Given the description of an element on the screen output the (x, y) to click on. 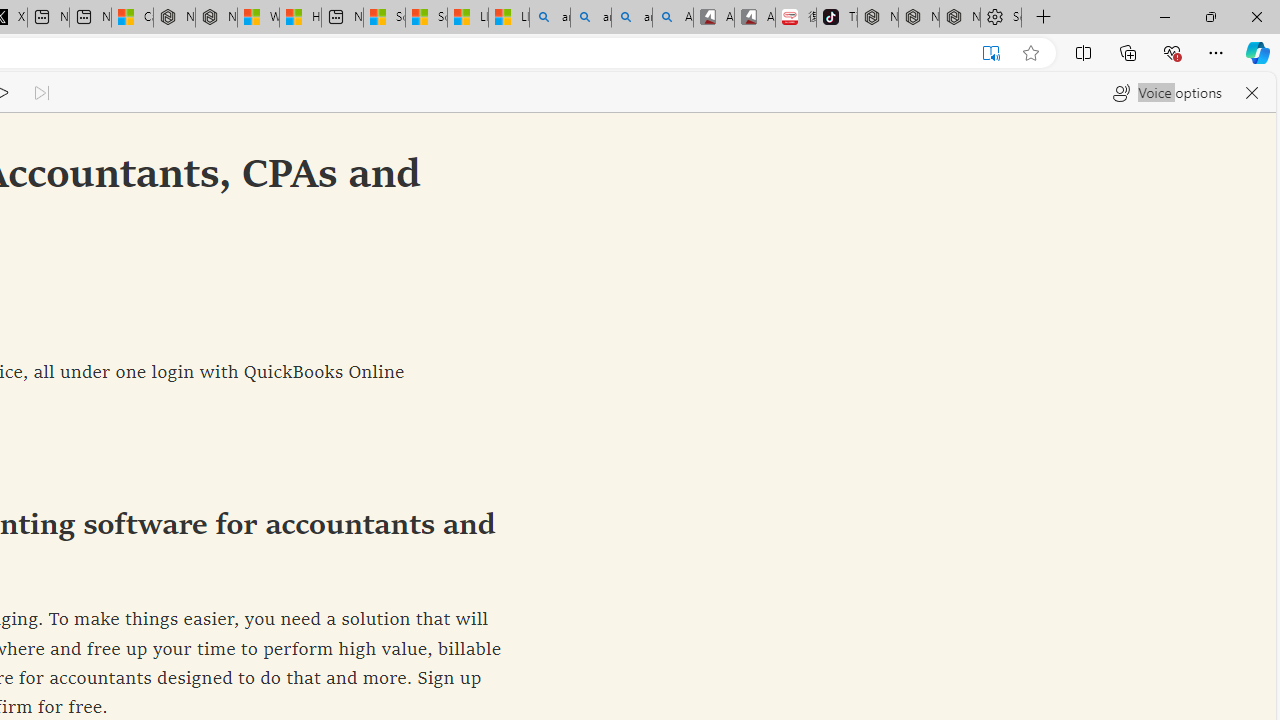
Voice options (1167, 92)
Amazon Echo Robot - Search Images (672, 17)
amazon - Search Images (631, 17)
Close read aloud (1252, 92)
